Given the description of an element on the screen output the (x, y) to click on. 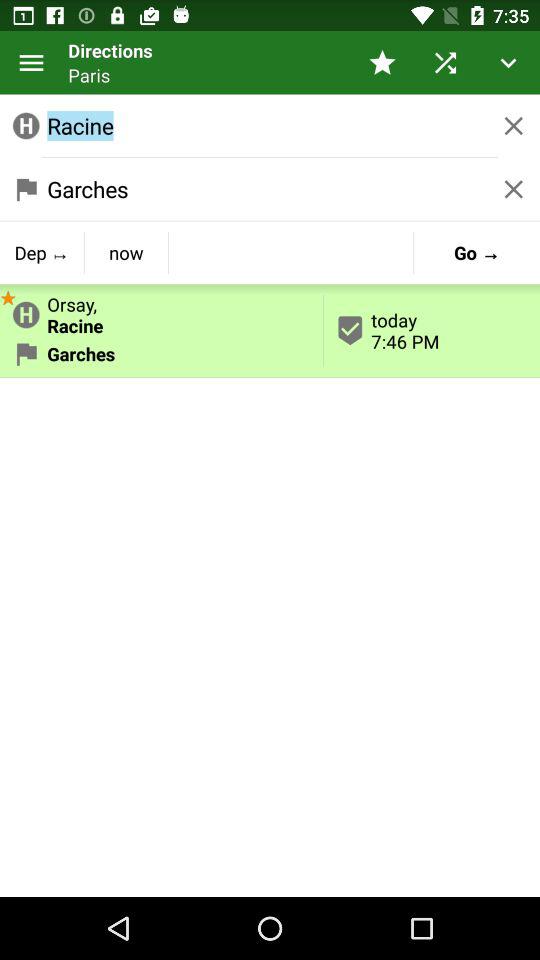
launch the icon to the left of today 7 46 item (161, 311)
